Given the description of an element on the screen output the (x, y) to click on. 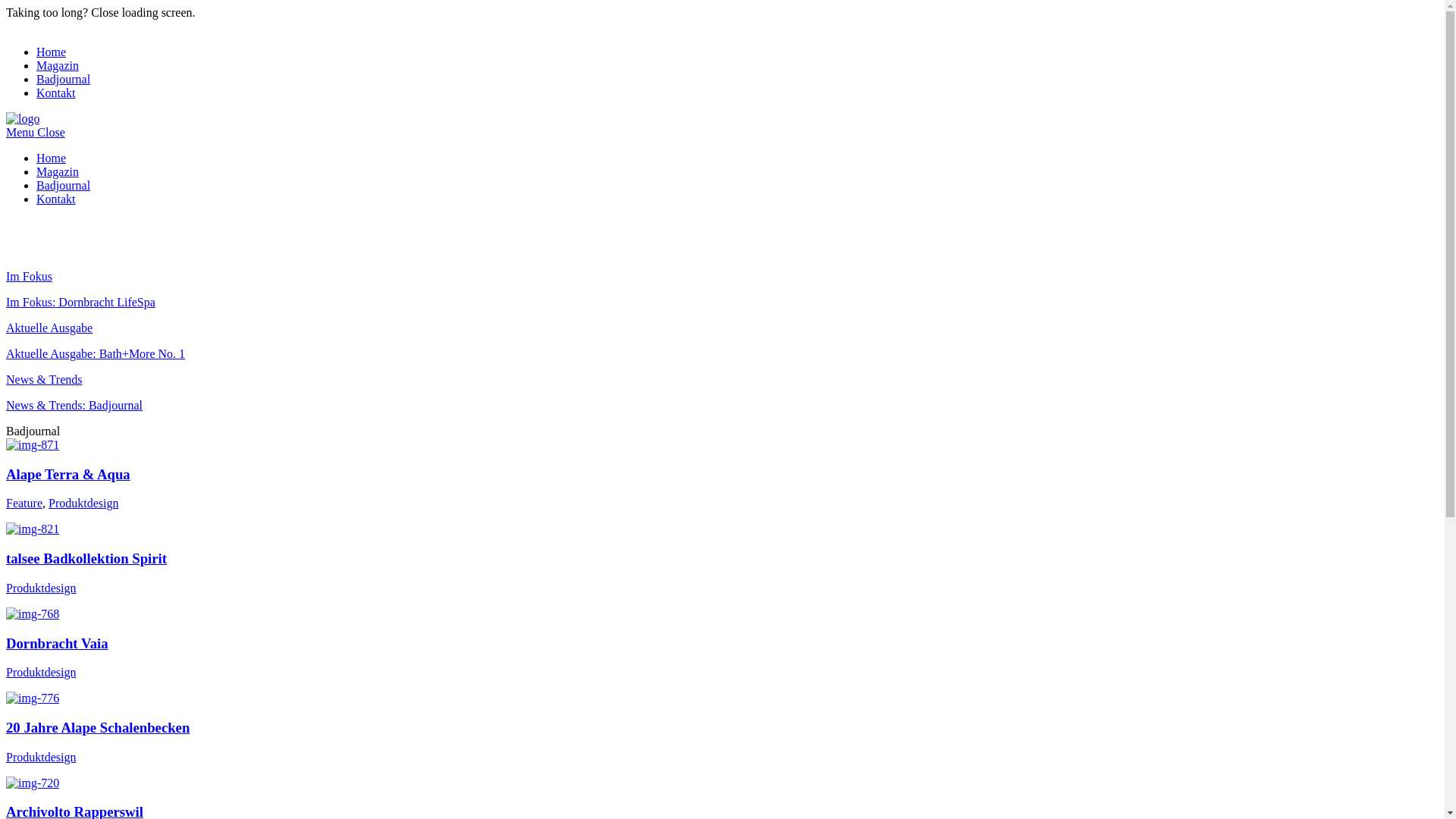
Home Element type: text (50, 157)
News & Trends
News & Trends: Badjournal Element type: text (722, 392)
Kontakt Element type: text (55, 92)
Menu Close Element type: text (35, 131)
Produktdesign Element type: text (40, 587)
Home Element type: text (50, 51)
Alape Terra & Aqua Element type: text (68, 474)
Kontakt Element type: text (55, 198)
Magazin Element type: text (57, 65)
Magazin Element type: text (57, 171)
Produktdesign Element type: text (83, 502)
talsee Badkollektion Spirit Element type: text (86, 558)
Im Fokus
Im Fokus: Dornbracht LifeSpa Element type: text (722, 289)
Aktuelle Ausgabe
Aktuelle Ausgabe: Bath+More No. 1 Element type: text (722, 340)
Badjournal Element type: text (63, 78)
Feature Element type: text (24, 502)
20 Jahre Alape Schalenbecken Element type: text (97, 727)
Produktdesign Element type: text (40, 756)
Dornbracht Vaia Element type: text (57, 643)
Produktdesign Element type: text (40, 671)
Badjournal Element type: text (63, 184)
